Given the description of an element on the screen output the (x, y) to click on. 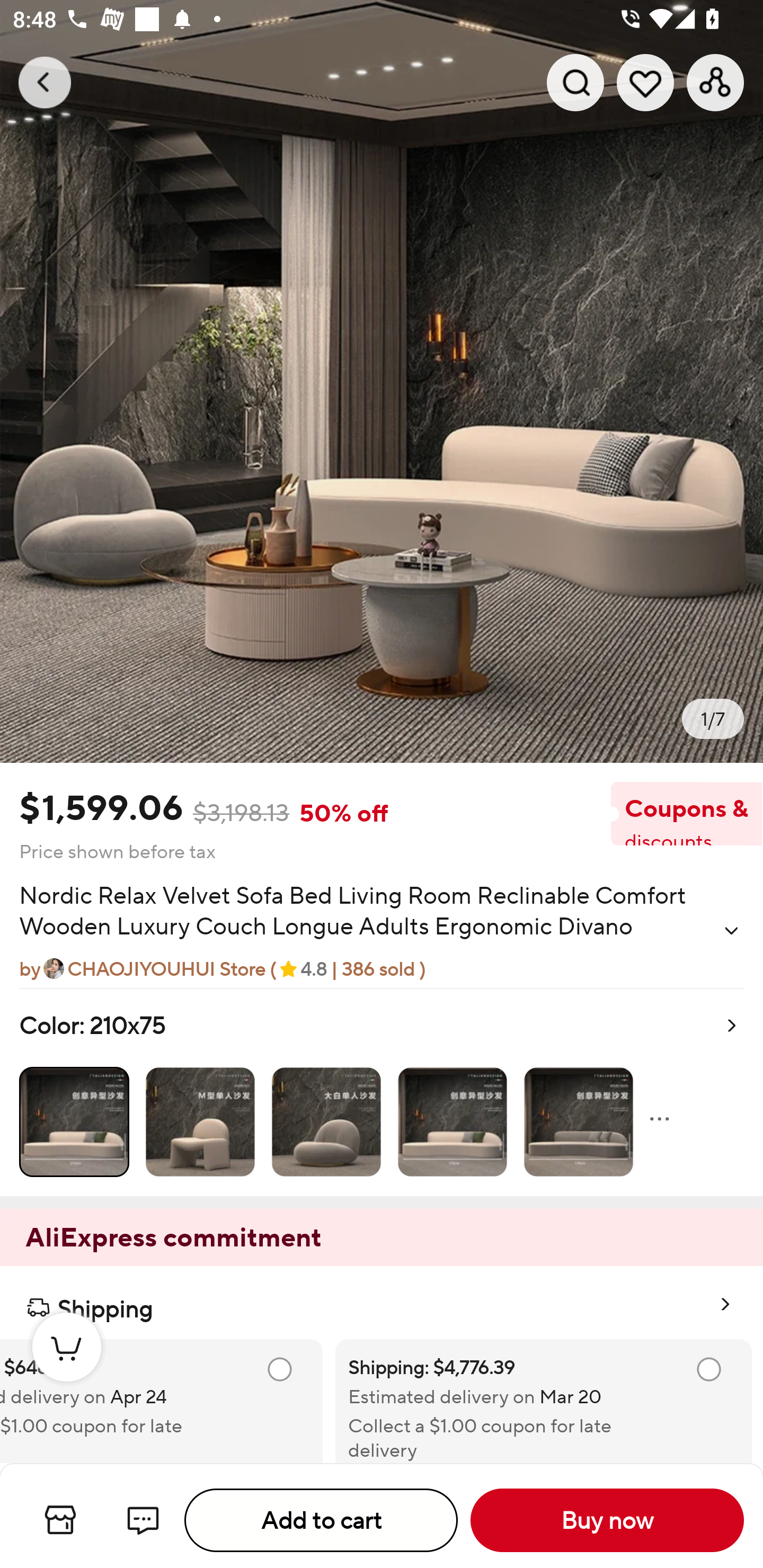
Navigate up (44, 82)
 (730, 930)
Color: 210x75  (381, 1092)
Add to cart (320, 1520)
Buy now (606, 1520)
